Given the description of an element on the screen output the (x, y) to click on. 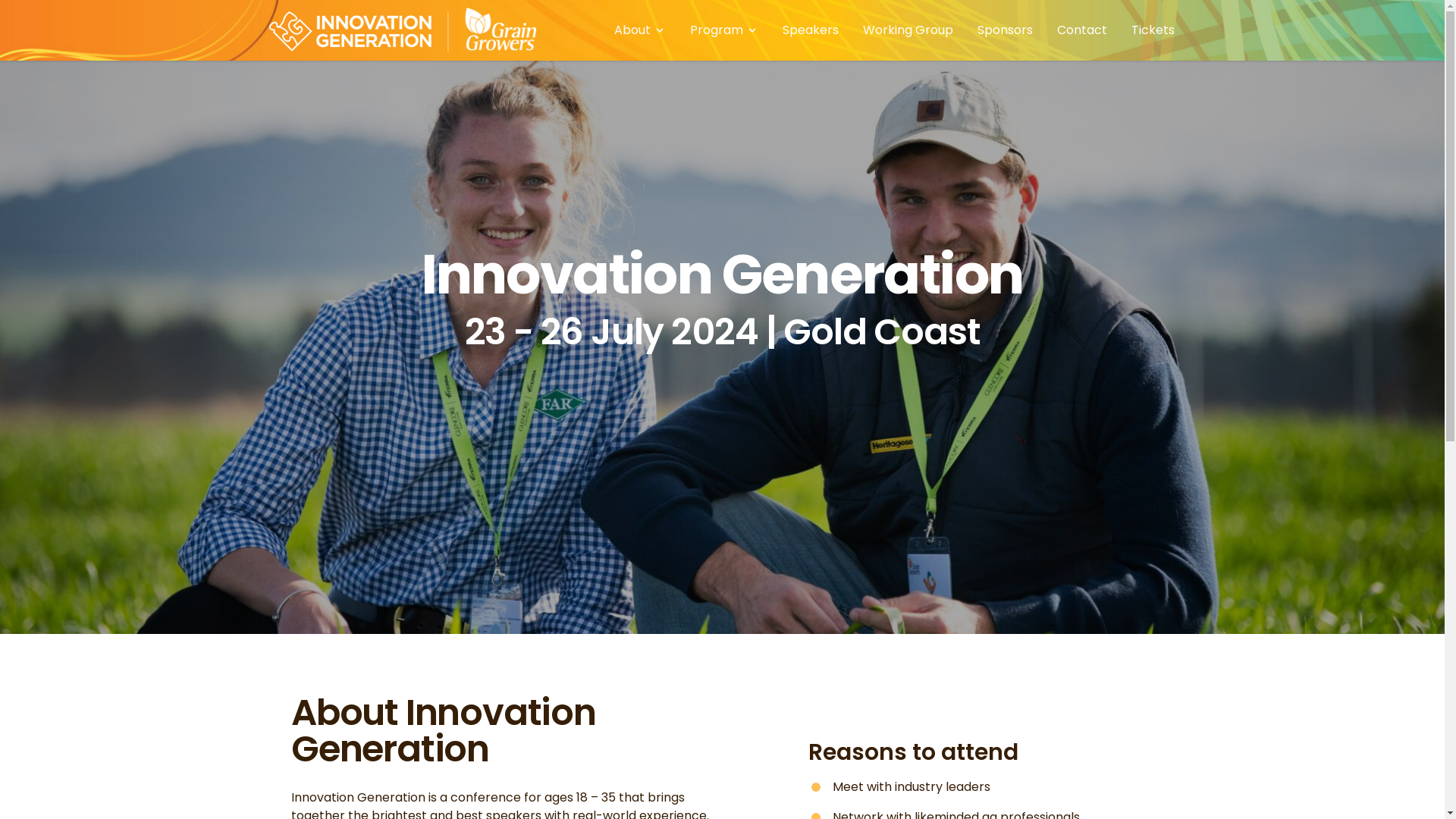
Contact Element type: text (1082, 30)
About Element type: text (639, 30)
Sponsors Element type: text (1004, 30)
Speakers Element type: text (810, 30)
Program Element type: text (723, 30)
Working Group Element type: text (907, 30)
Tickets Element type: text (1152, 30)
